Given the description of an element on the screen output the (x, y) to click on. 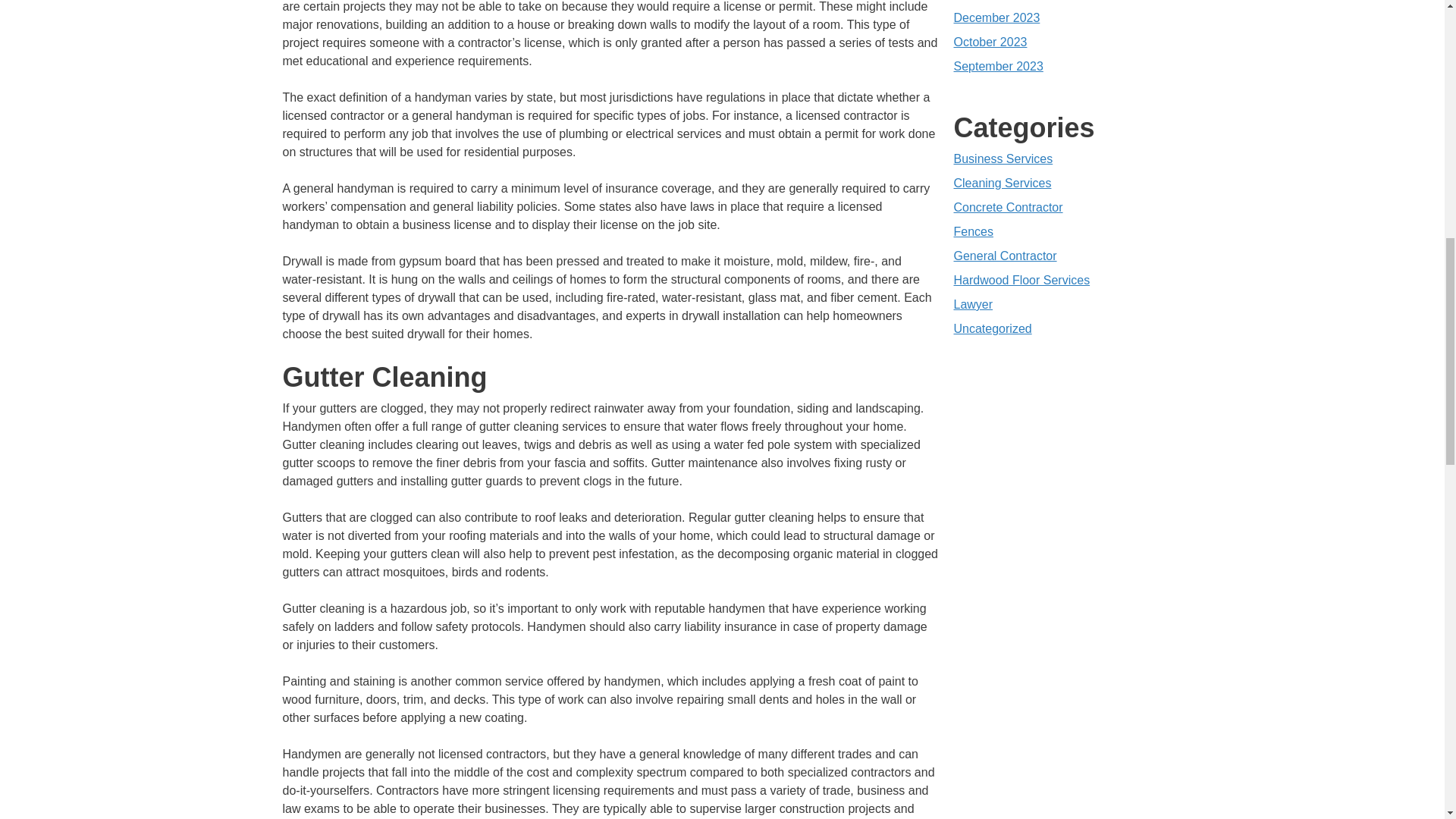
December 2023 (997, 17)
Cleaning Services (1002, 182)
Lawyer (972, 304)
Fences (972, 231)
General Contractor (1005, 255)
Business Services (1002, 158)
October 2023 (990, 42)
Hardwood Floor Services (1021, 279)
Concrete Contractor (1007, 206)
September 2023 (998, 65)
